Given the description of an element on the screen output the (x, y) to click on. 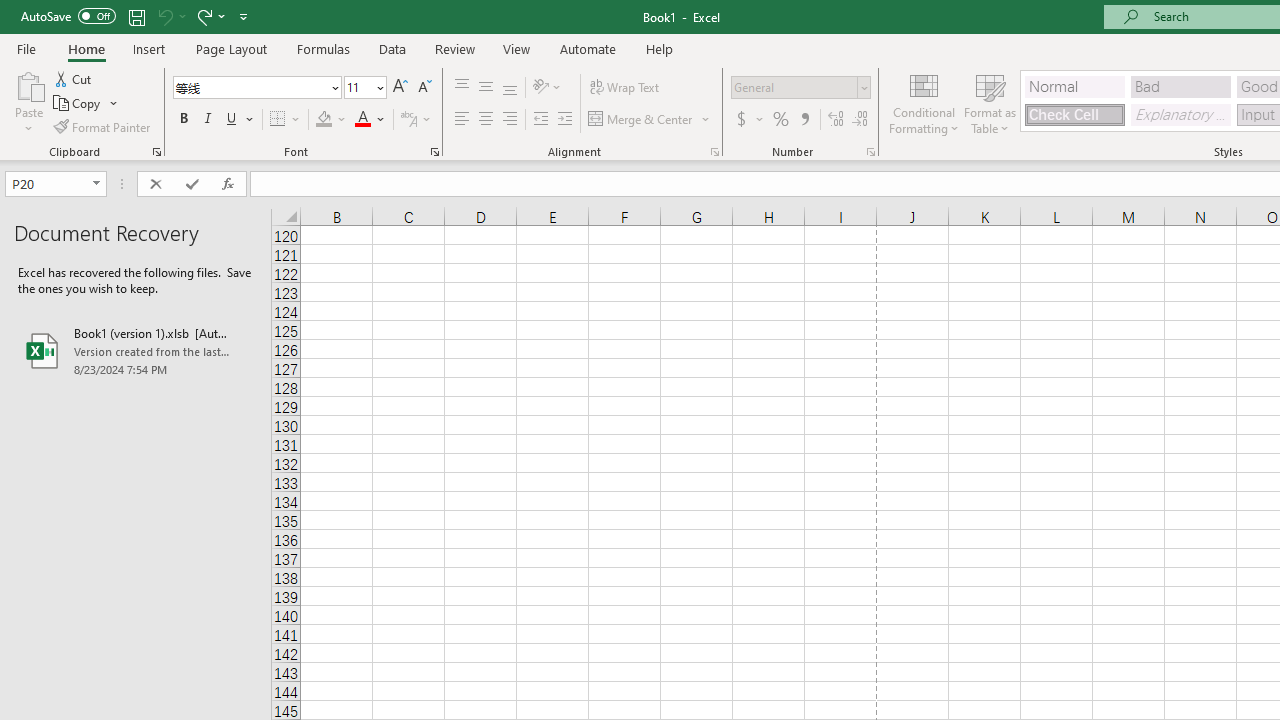
Merge & Center (641, 119)
Show Phonetic Field (408, 119)
Font (250, 87)
Center (485, 119)
Paste (28, 84)
Conditional Formatting (924, 102)
Increase Indent (565, 119)
Bottom Align (509, 87)
Paste (28, 102)
Orientation (547, 87)
Format Cell Font (434, 151)
